Given the description of an element on the screen output the (x, y) to click on. 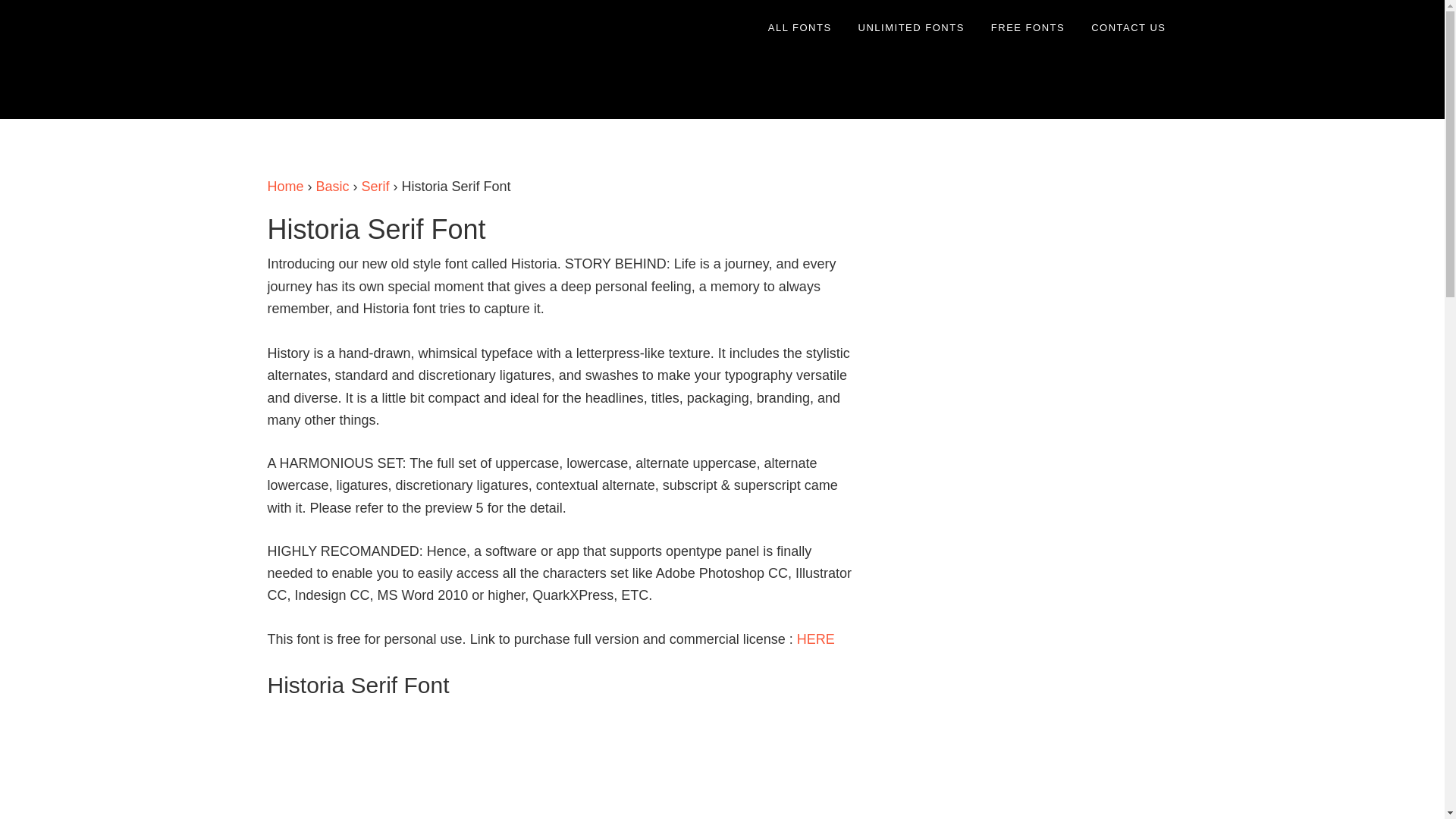
FREE FONTS (1027, 27)
Home (284, 186)
CONTACT US (1128, 27)
HERE (815, 639)
UNLIMITED FONTS (911, 27)
Basic (332, 186)
ALL FONTS (800, 27)
Serif (375, 186)
